Given the description of an element on the screen output the (x, y) to click on. 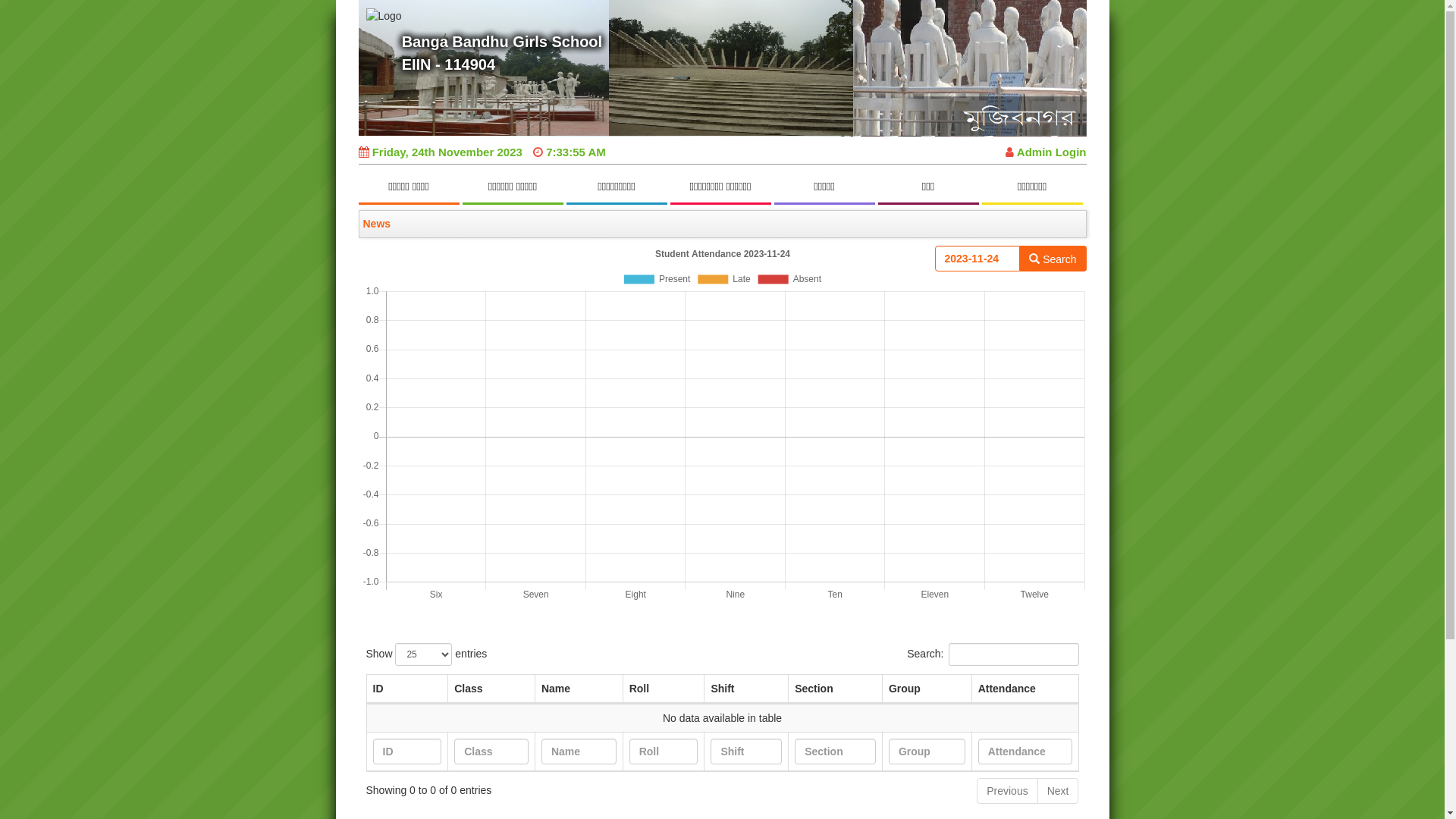
Next Element type: text (1058, 790)
Search Element type: text (1052, 258)
Previous Element type: text (1006, 790)
Admin Login Element type: text (1045, 151)
